Given the description of an element on the screen output the (x, y) to click on. 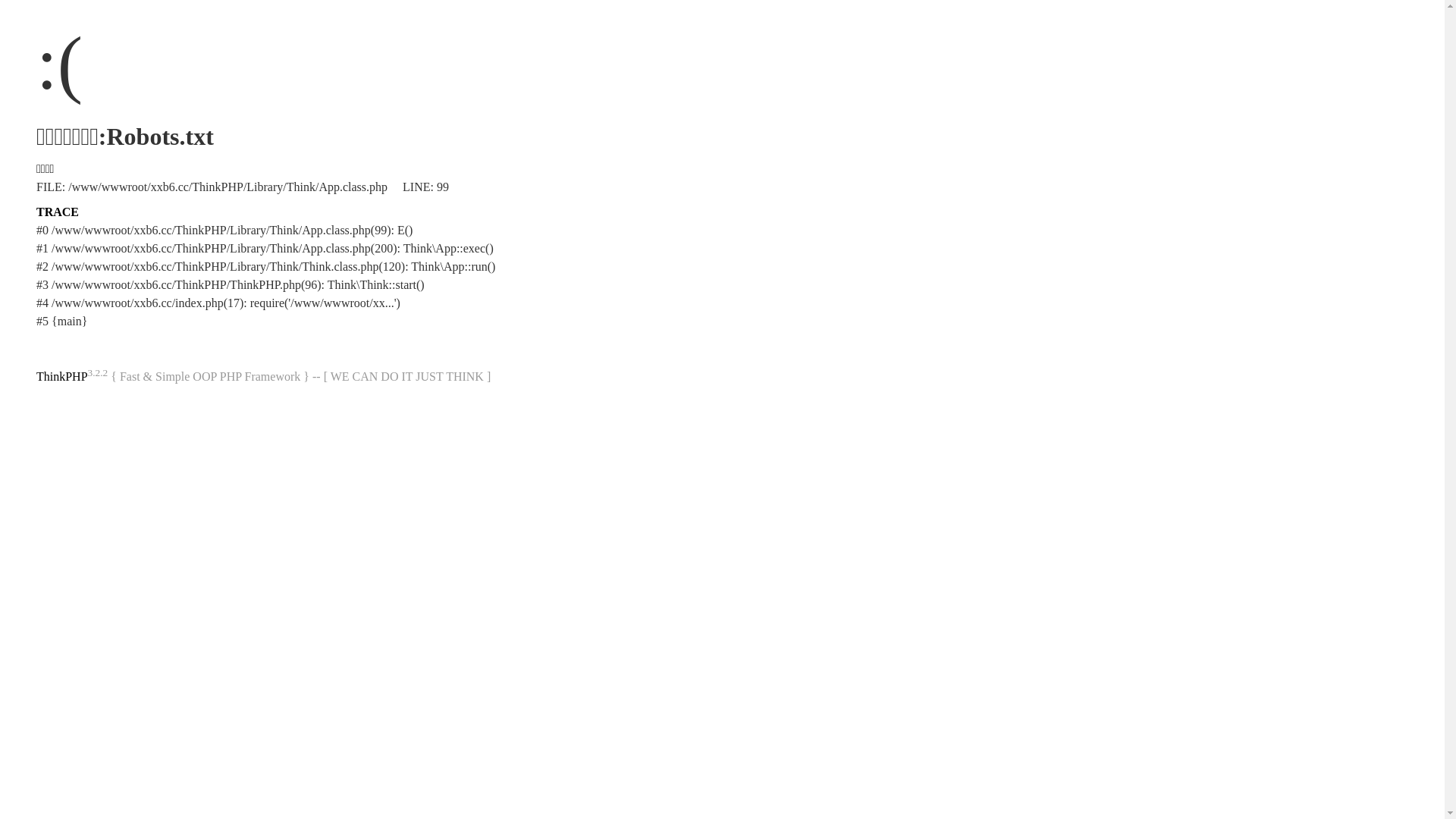
ThinkPHP Element type: text (61, 376)
